Given the description of an element on the screen output the (x, y) to click on. 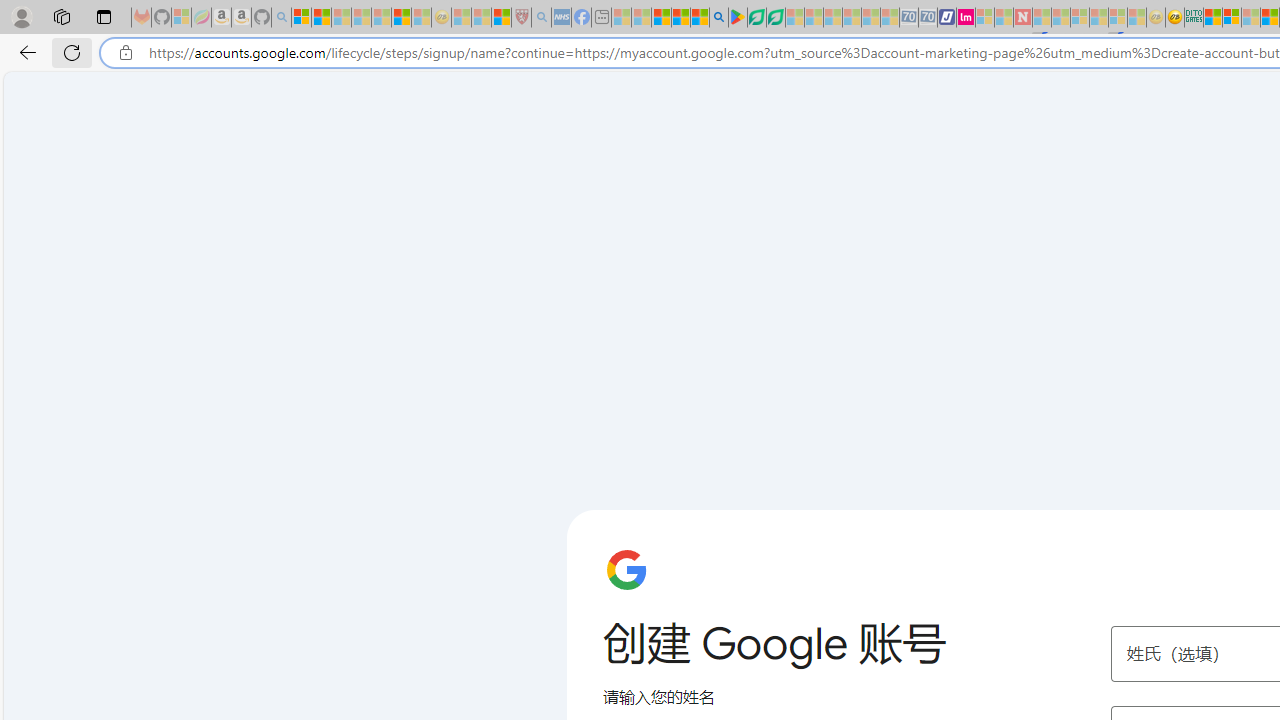
google - Search (719, 17)
Trusted Community Engagement and Contributions | Guidelines (1041, 17)
New tab - Sleeping (600, 17)
Local - MSN (500, 17)
Cheap Hotels - Save70.com - Sleeping (927, 17)
Pets - MSN (680, 17)
